Given the description of an element on the screen output the (x, y) to click on. 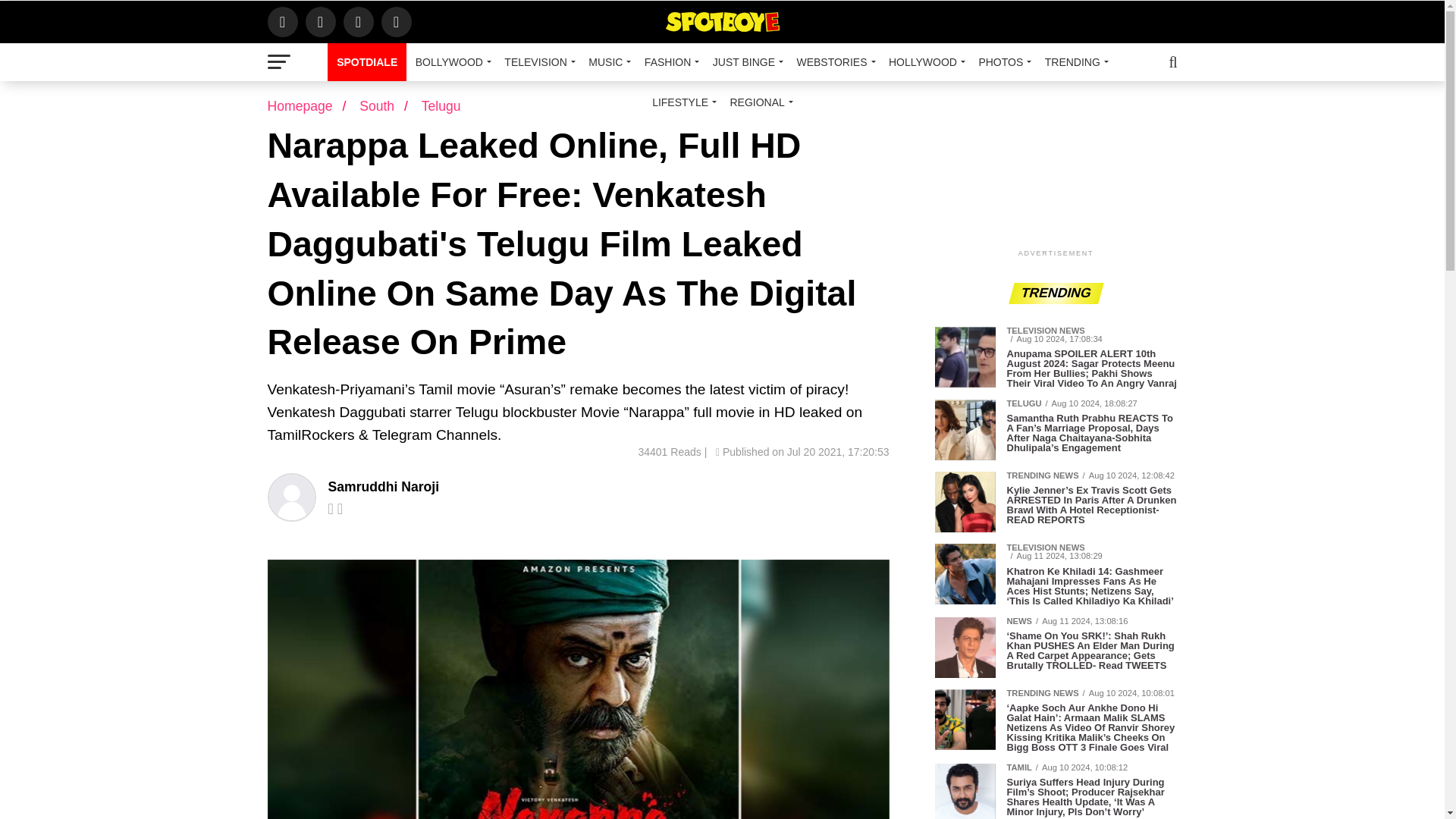
TELEVISION (537, 62)
REGIONAL (758, 102)
Posts by  Samruddhi Naroji  (383, 486)
SPOTDIALE (366, 62)
LIFESTYLE (681, 102)
PHOTOS (1002, 62)
FASHION (668, 62)
BOLLYWOOD (451, 62)
HOLLYWOOD (924, 62)
MUSIC (606, 62)
